Given the description of an element on the screen output the (x, y) to click on. 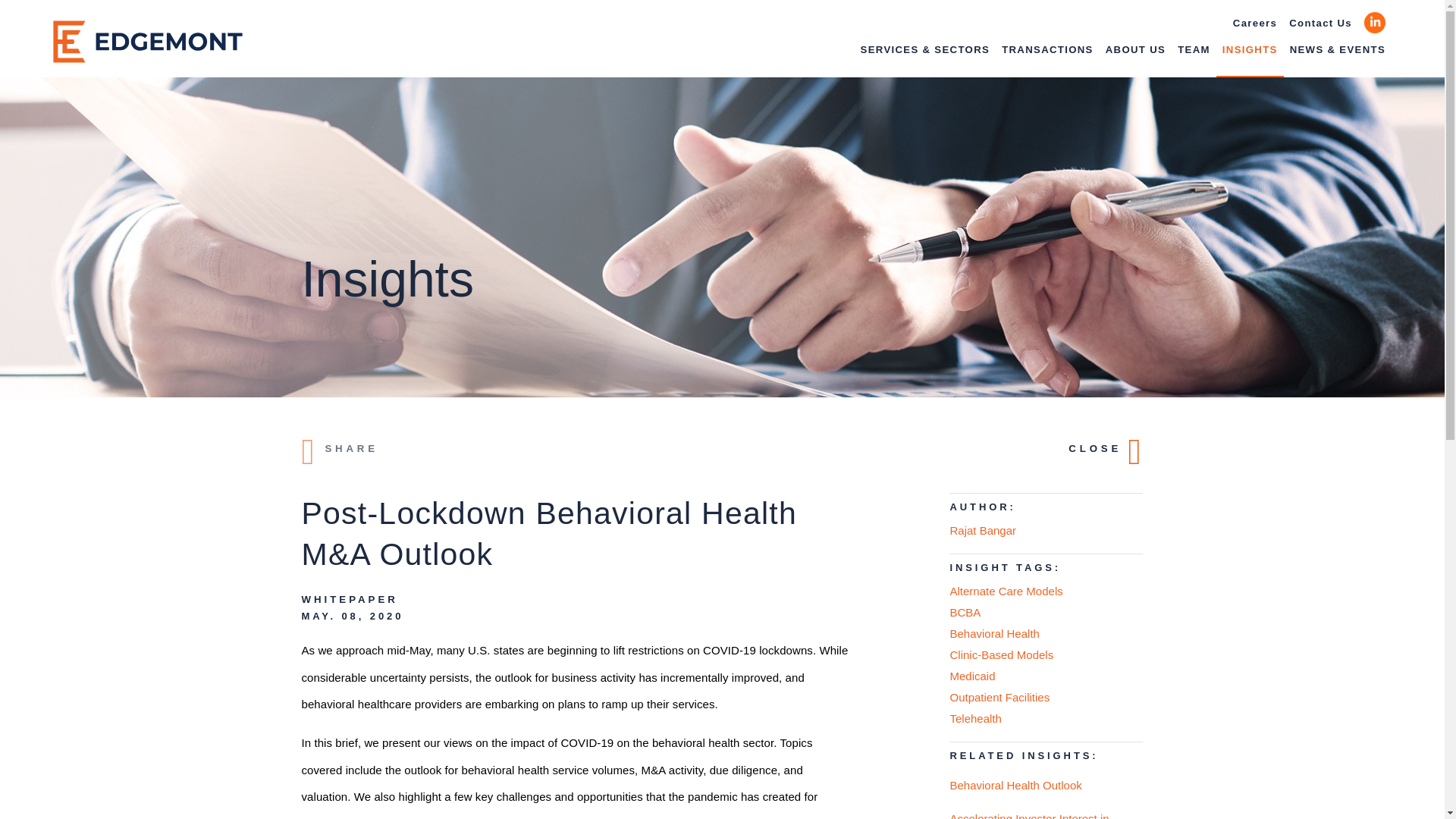
Careers (1254, 22)
Contact Us (1320, 22)
Behavioral Health Outlook (1045, 785)
ABOUT US (1135, 56)
INSIGHTS (1249, 56)
Clinic-Based Models (1045, 654)
Outpatient Facilities (1045, 697)
Medicaid (1045, 676)
CLOSE (1105, 452)
TRANSACTIONS (1047, 56)
Edgemont (147, 41)
TEAM (1193, 56)
Alternate Care Models (1045, 590)
Telehealth (1045, 718)
LinkedIn (1374, 22)
